Given the description of an element on the screen output the (x, y) to click on. 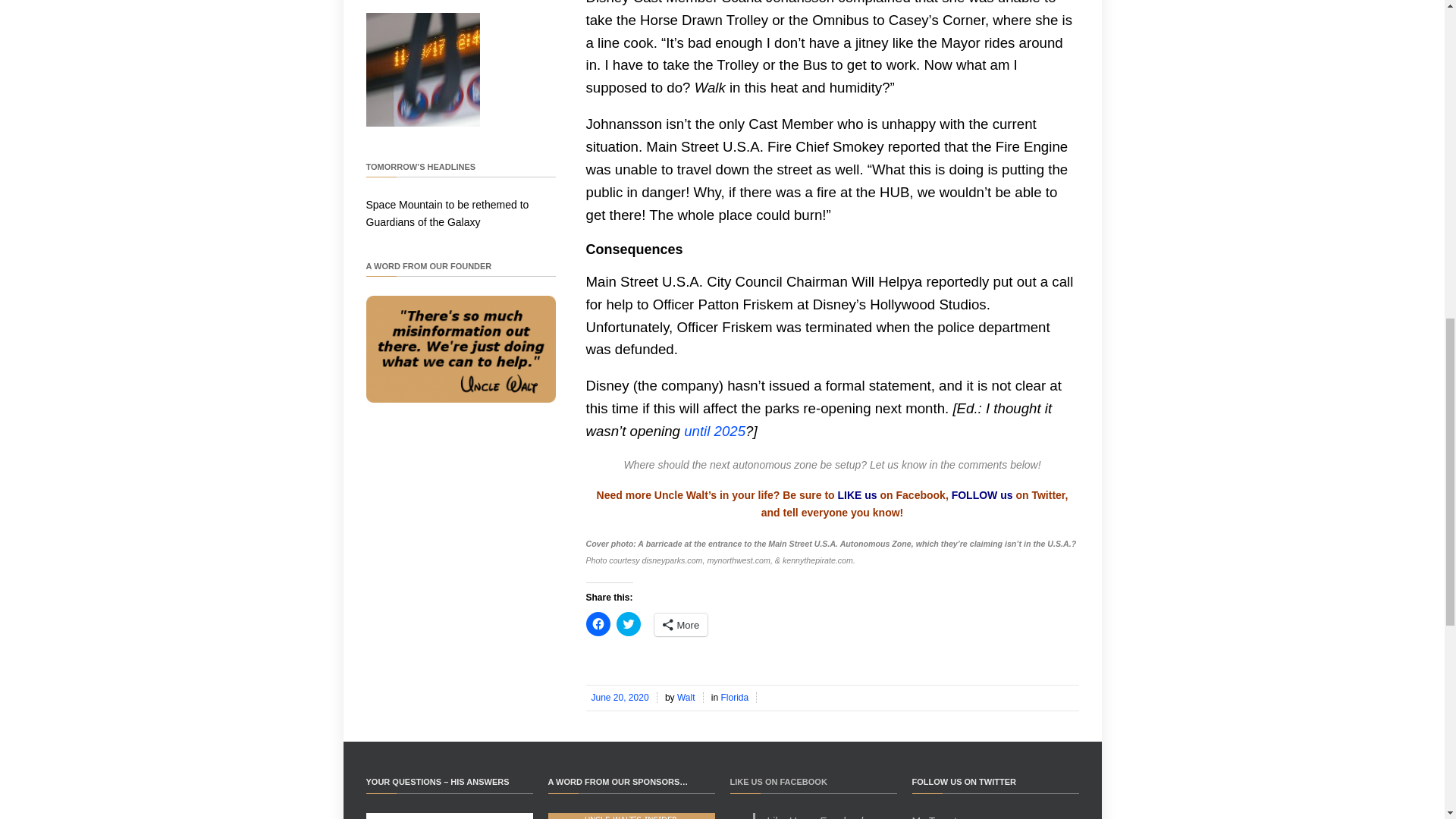
A word from our sponsors... (630, 816)
My Tweets (936, 816)
More (680, 624)
until 2025 (714, 430)
LIKE US ON FACEBOOK (778, 781)
LIKE us (857, 494)
June 20, 2020 (620, 697)
FOLLOW us (982, 494)
Click to share on Twitter (627, 623)
Like Us on Facebook (815, 816)
Walt (687, 697)
Click to share on Facebook (597, 623)
Florida (735, 697)
